Given the description of an element on the screen output the (x, y) to click on. 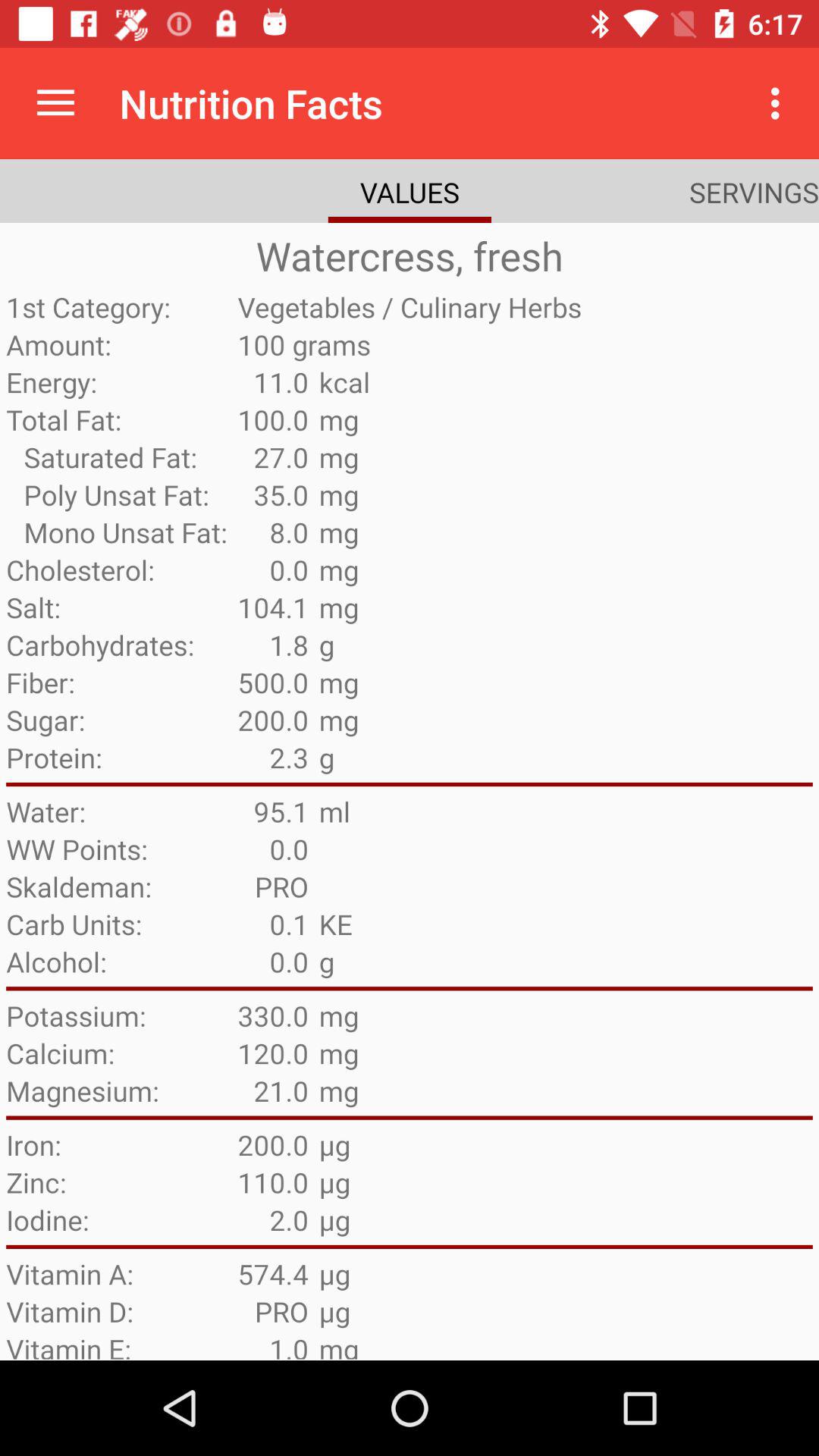
turn off item to the left of the nutrition facts icon (55, 103)
